Given the description of an element on the screen output the (x, y) to click on. 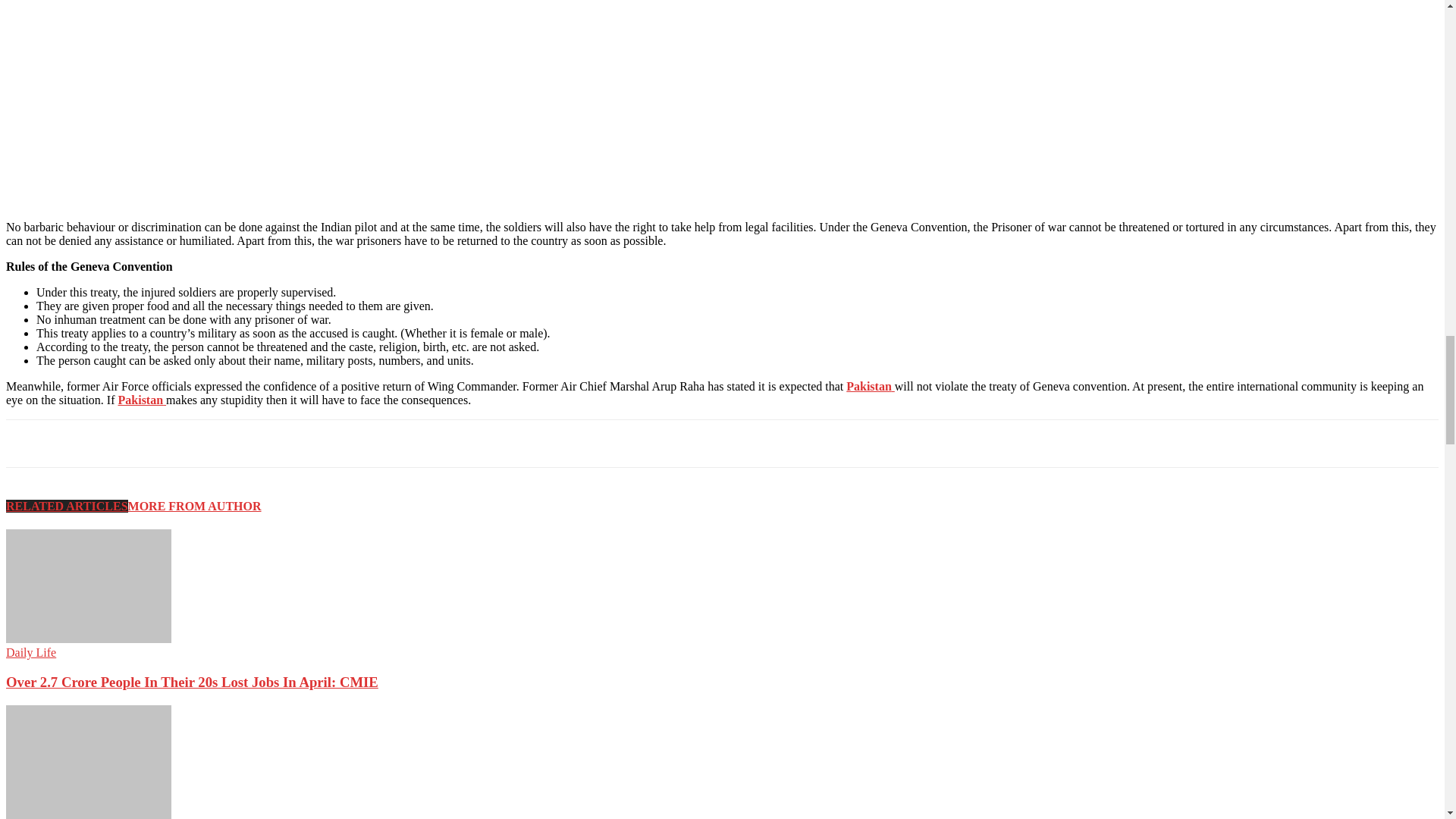
Over 2.7 Crore People In Their 20s Lost Jobs In April: CMIE (88, 638)
bottomFacebookLike (118, 443)
Over 2.7 Crore People In Their 20s Lost Jobs In April: CMIE (88, 585)
